Given the description of an element on the screen output the (x, y) to click on. 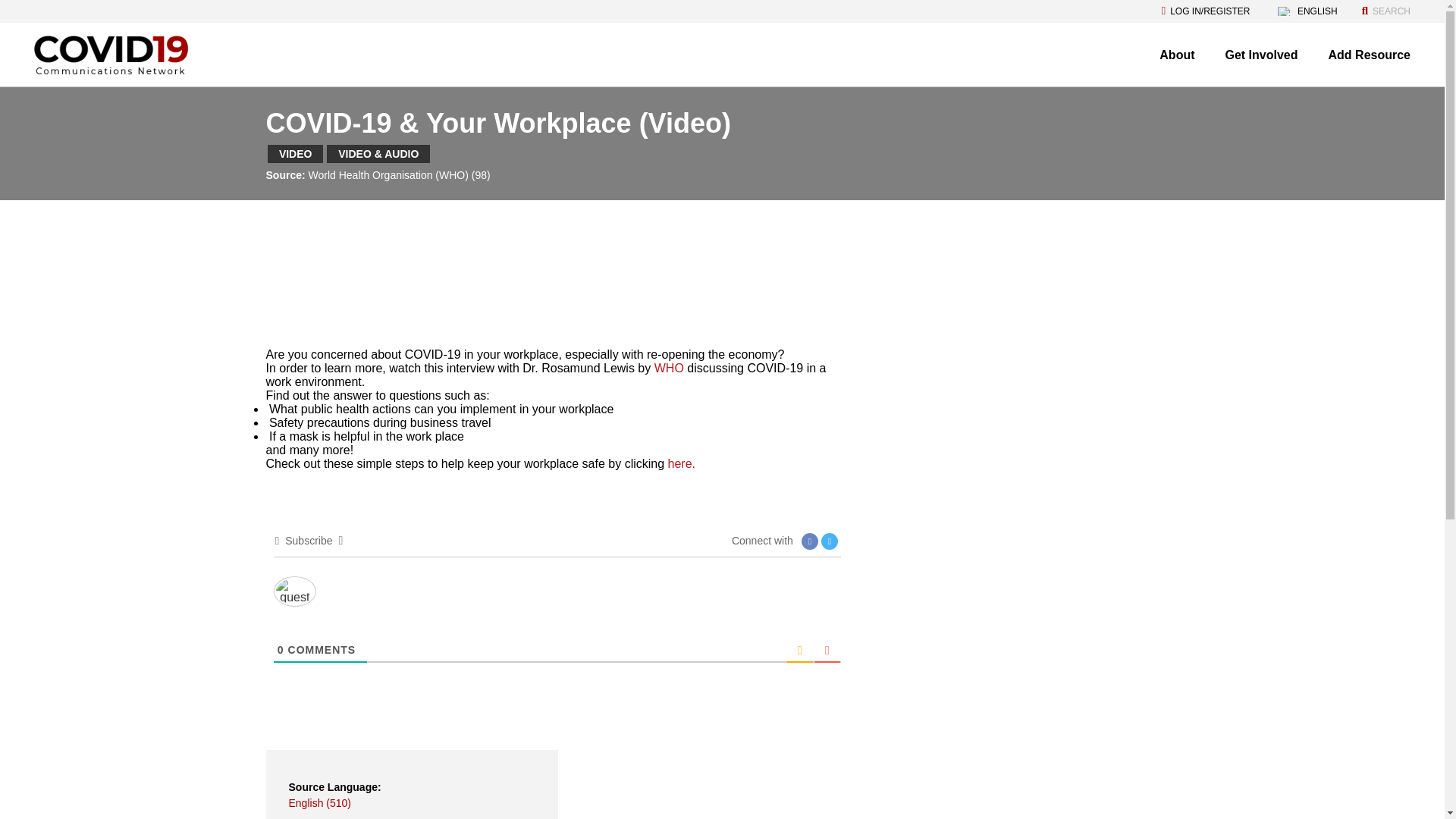
Get Involved (1261, 55)
Covid Communication Network (110, 56)
SEARCH (1385, 10)
WHO (668, 367)
ENGLISH (1308, 10)
About (1175, 55)
Covid Communication Network (110, 55)
VIDEO (295, 153)
here. (681, 463)
English (1284, 10)
Add Resource (1368, 55)
